Given the description of an element on the screen output the (x, y) to click on. 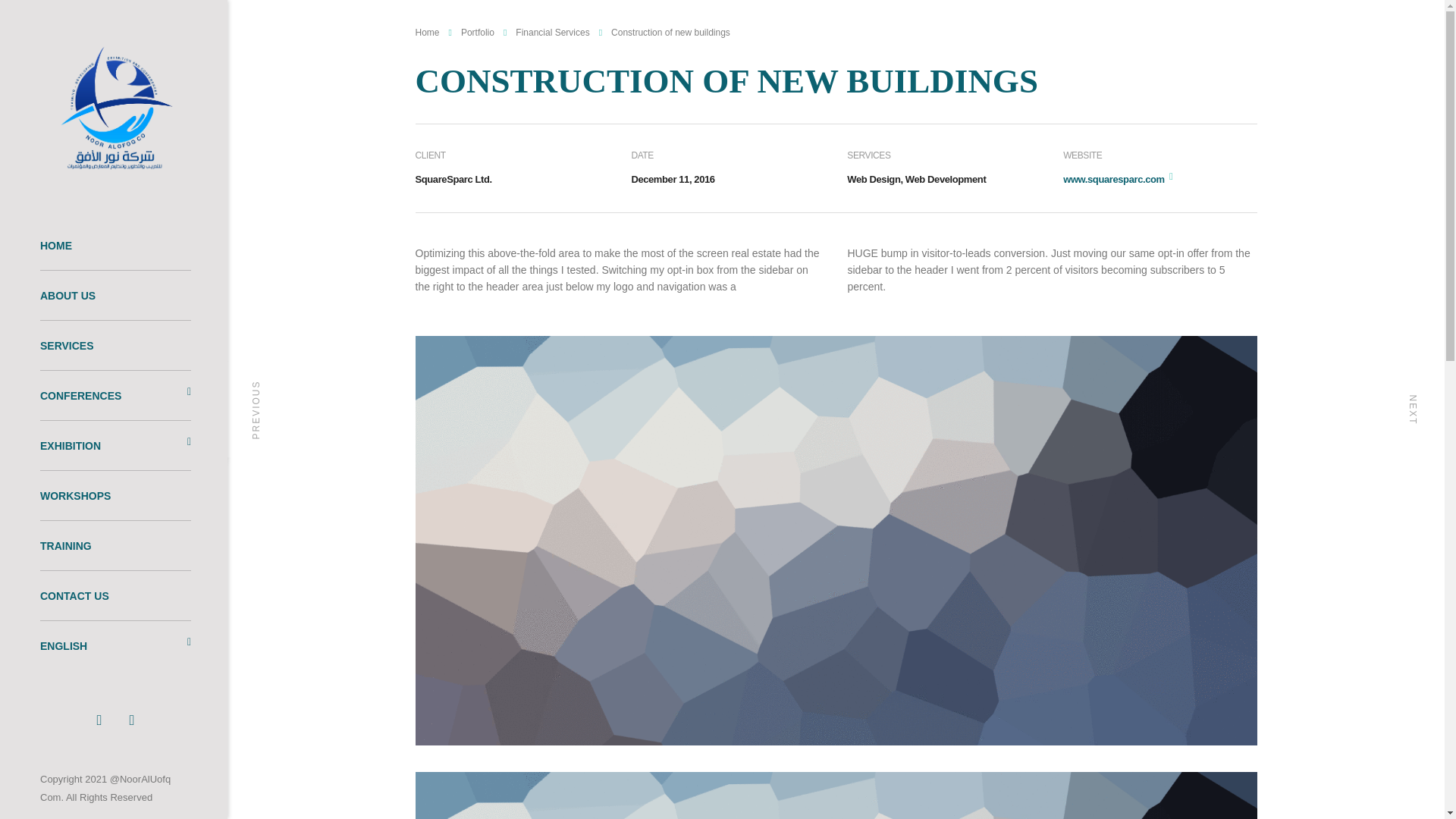
Go to the Financial Services Categories archives. (552, 32)
Go to Portfolio. (478, 32)
CONTACT US (115, 594)
SERVICES (115, 345)
ENGLISH (115, 644)
CONFERENCES (115, 395)
ABOUT US (115, 295)
Go to Noor Al-Ufoq. (426, 32)
TRAINING (115, 545)
HOME (115, 245)
EXHIBITION (115, 445)
WORKSHOPS (115, 495)
